Given the description of an element on the screen output the (x, y) to click on. 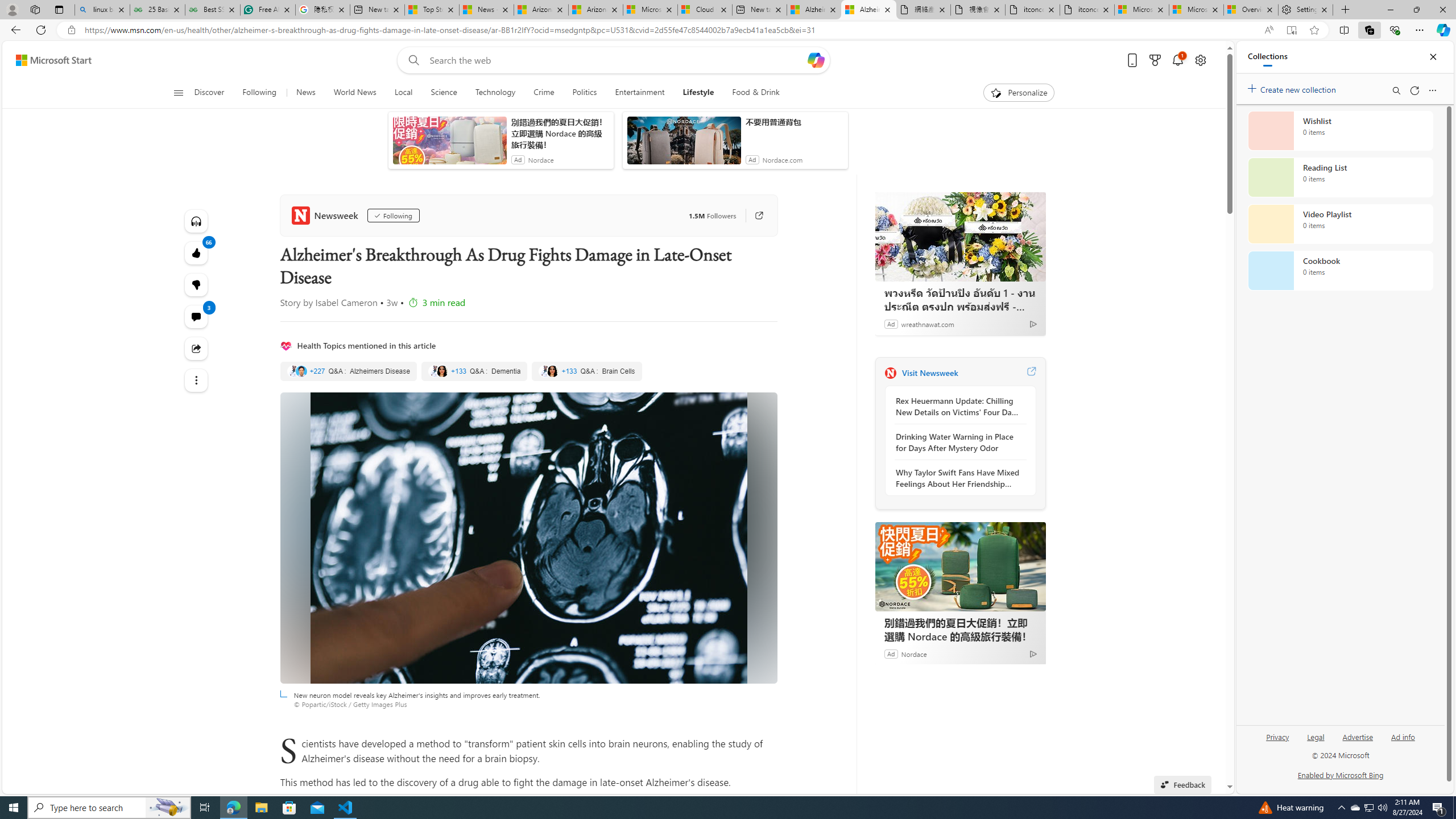
Create new collection (1293, 87)
Wishlist collection, 0 items (1339, 130)
